Given the description of an element on the screen output the (x, y) to click on. 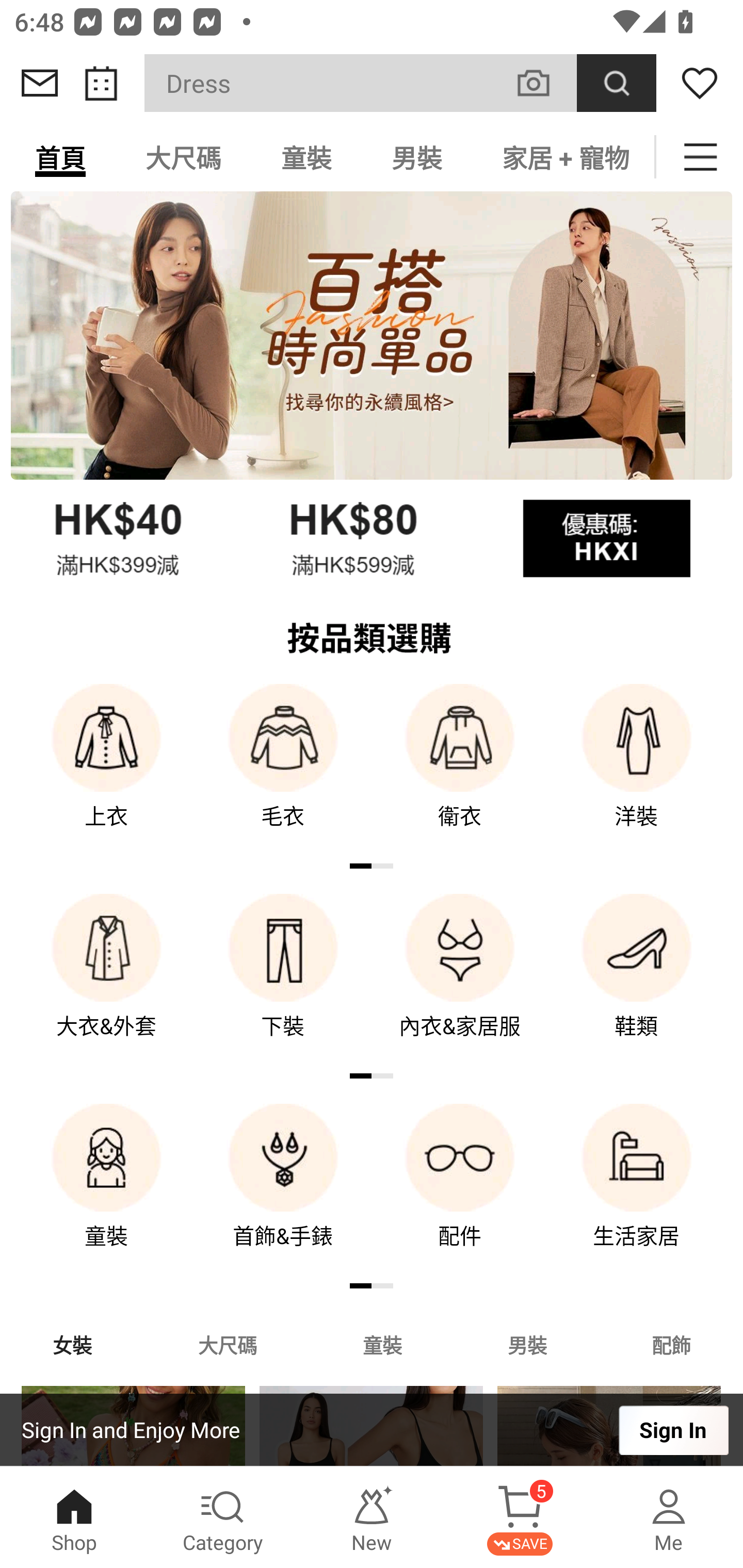
Wishlist (699, 82)
VISUAL SEARCH (543, 82)
首頁 (60, 156)
大尺碼 (183, 156)
童裝 (306, 156)
男裝 (416, 156)
家居 + 寵物 (563, 156)
上衣 (105, 769)
毛衣 (282, 769)
衛衣 (459, 769)
洋裝 (636, 769)
大衣&外套 (105, 979)
下裝 (282, 979)
內衣&家居服 (459, 979)
鞋類 (636, 979)
童裝 (105, 1189)
首飾&手錶 (282, 1189)
配件 (459, 1189)
生活家居 (636, 1189)
女裝 (72, 1344)
大尺碼 (226, 1344)
童裝 (381, 1344)
男裝 (527, 1344)
配飾 (671, 1344)
Sign In and Enjoy More Sign In (371, 1429)
Category (222, 1517)
New (371, 1517)
Cart 5 SAVE (519, 1517)
Me (668, 1517)
